Given the description of an element on the screen output the (x, y) to click on. 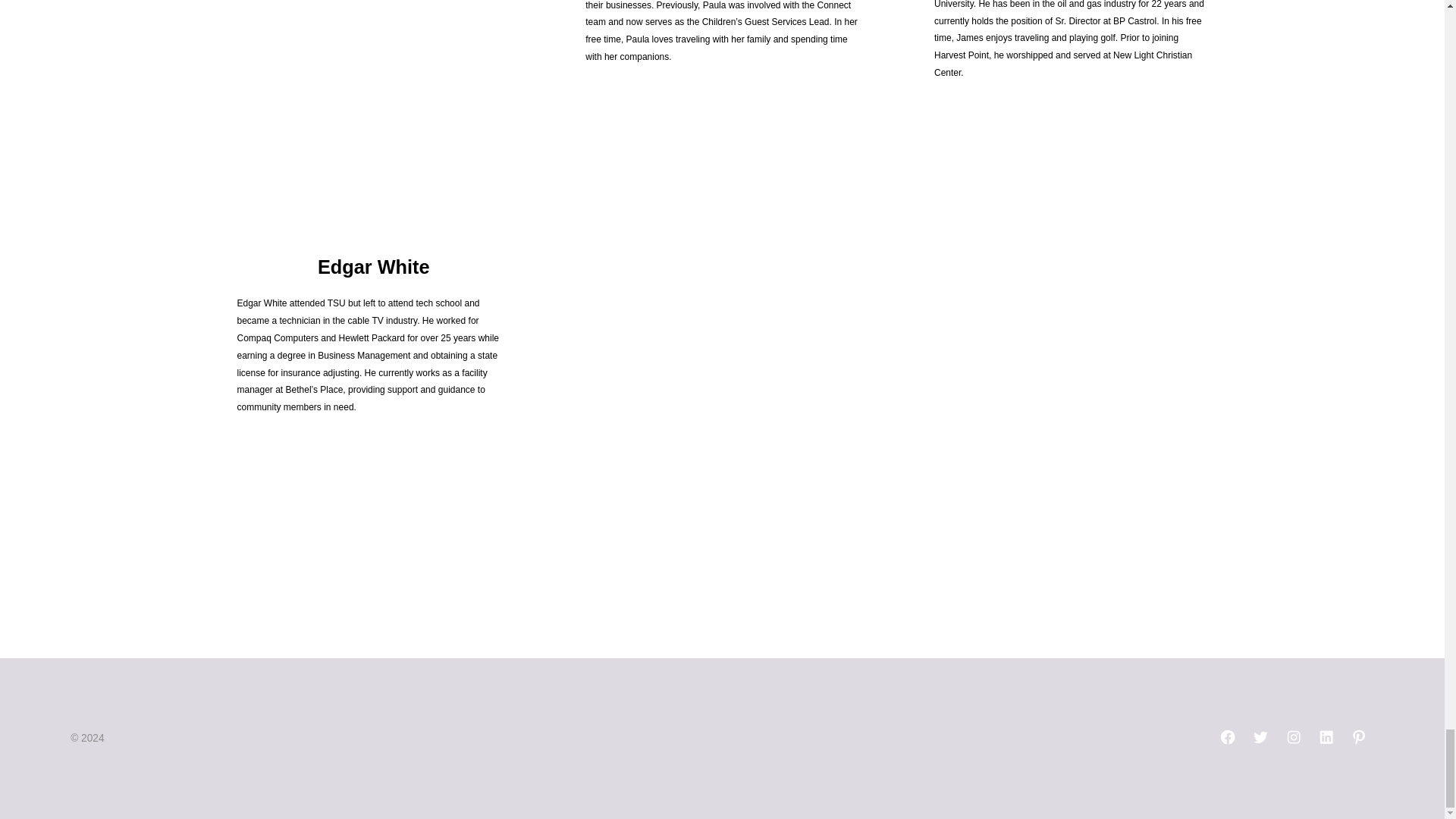
Open Instagram in a new tab (1293, 736)
Open Twitter in a new tab (1260, 736)
Open Facebook in a new tab (1226, 736)
Open Pinterest in a new tab (1358, 736)
Open LinkedIn in a new tab (1325, 736)
